Given the description of an element on the screen output the (x, y) to click on. 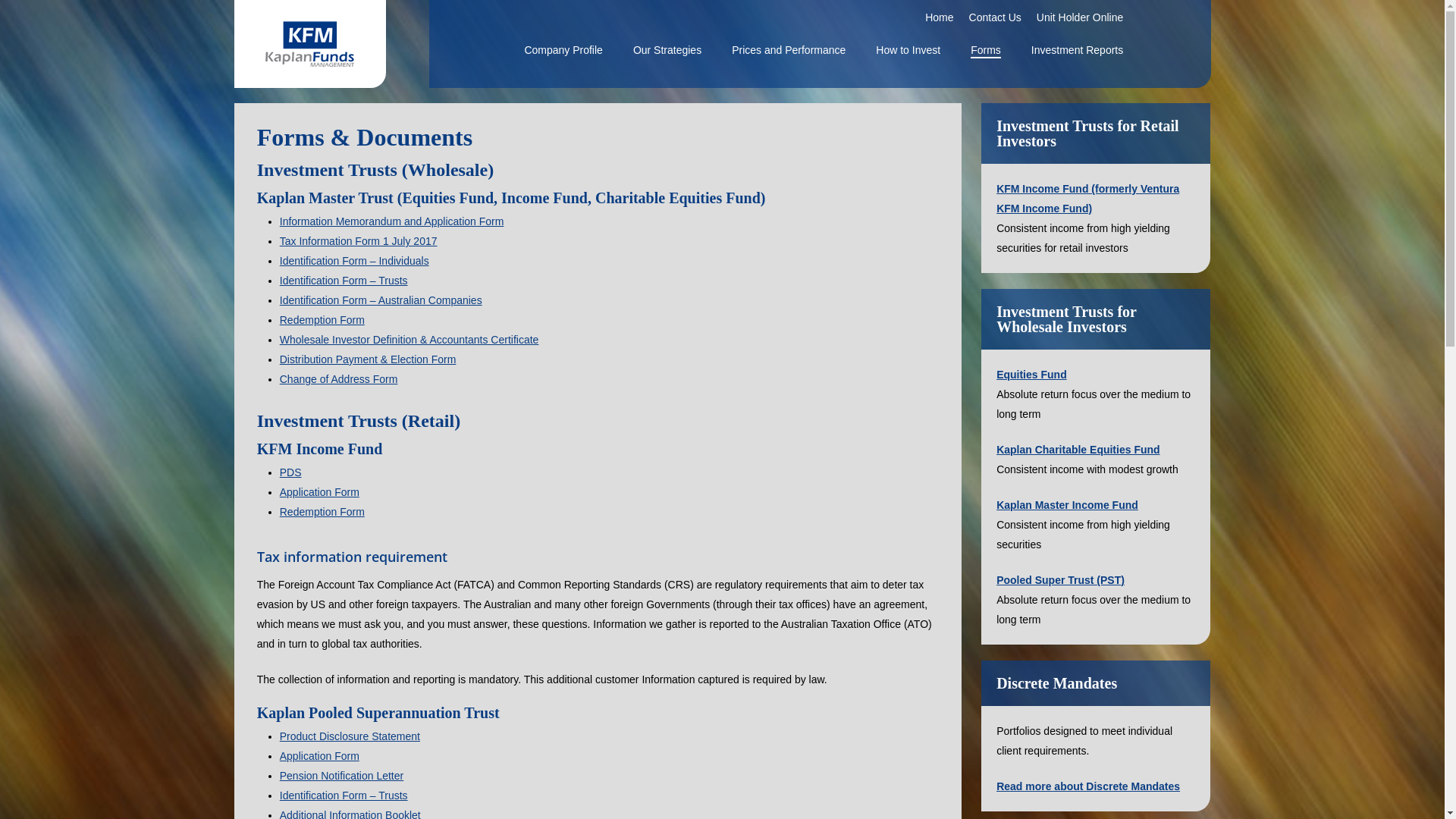
Information Memorandum and Application Form Element type: text (391, 221)
Pension Notification Letter Element type: text (341, 775)
Pooled Super Trust (PST) Element type: text (1060, 580)
Read more about Discrete Mandates Element type: text (1087, 786)
Prices and Performance Element type: text (788, 49)
Wholesale Investor Definition & Accountants Certificate Element type: text (409, 339)
Home Element type: text (939, 17)
Tax Information Form 1 July 2017 Element type: text (358, 241)
Company Profile Element type: text (563, 49)
KFM Income Fund (formerly Ventura KFM Income Fund) Element type: text (1087, 198)
Unit Holder Online Element type: text (1079, 17)
Contact Us Element type: text (995, 17)
Kaplan Master Income Fund Element type: text (1067, 504)
Application Form Element type: text (319, 492)
Kaplan Charitable Equities Fund Element type: text (1077, 449)
Investment Reports Element type: text (1077, 49)
Redemption Form Element type: text (321, 511)
Our Strategies Element type: text (667, 49)
Distribution Payment & Election Form Element type: text (367, 359)
Application Form Element type: text (319, 755)
Equities Fund Element type: text (1031, 374)
Forms Element type: text (985, 49)
PDS Element type: text (290, 472)
Product Disclosure Statement Element type: text (349, 736)
How to Invest Element type: text (907, 49)
Redemption Form Element type: text (321, 319)
Change of Address Form Element type: text (338, 379)
